Given the description of an element on the screen output the (x, y) to click on. 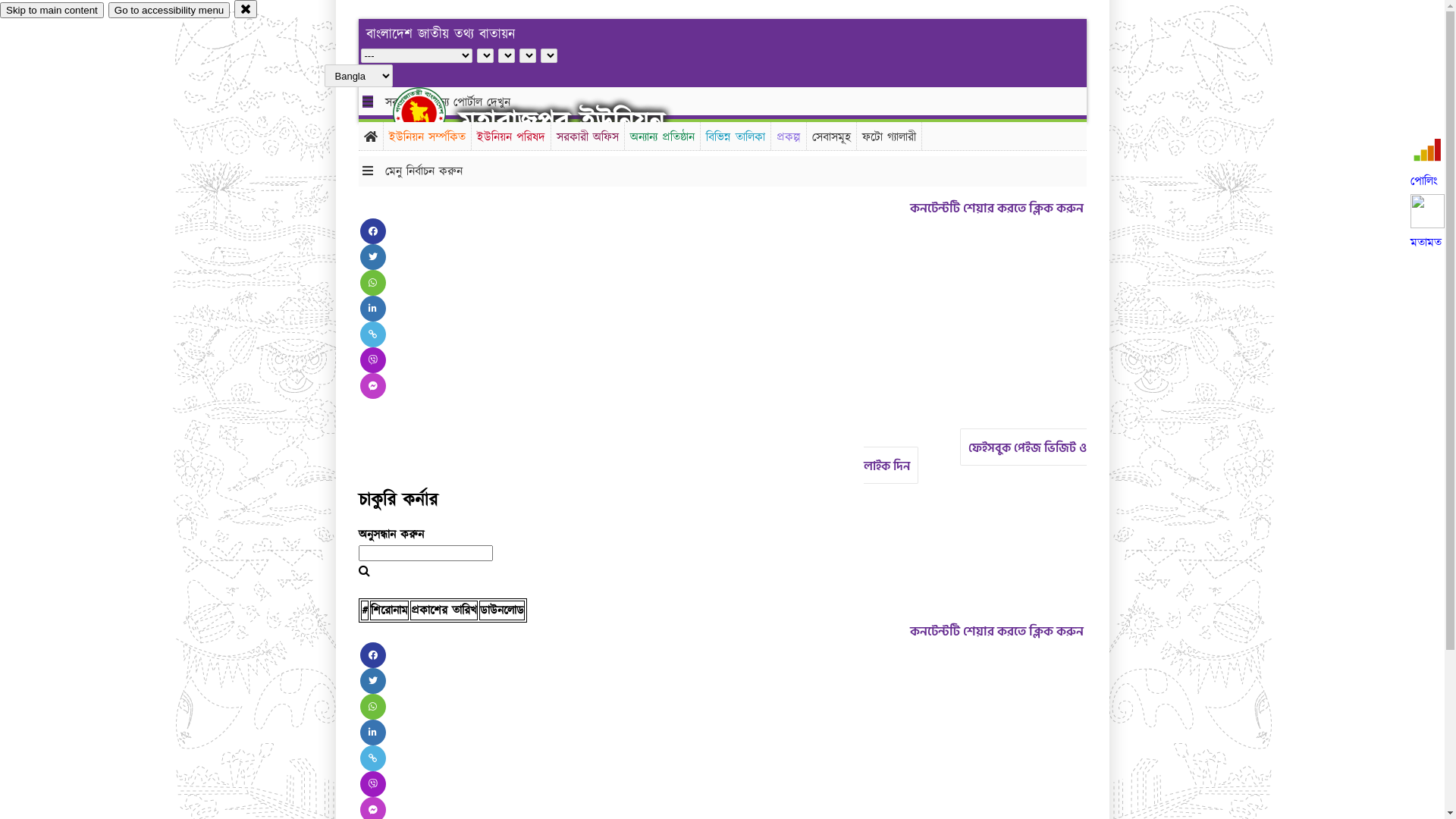
close Element type: hover (245, 9)
Go to accessibility menu Element type: text (168, 10)

                
             Element type: hover (431, 112)
Skip to main content Element type: text (51, 10)
